Given the description of an element on the screen output the (x, y) to click on. 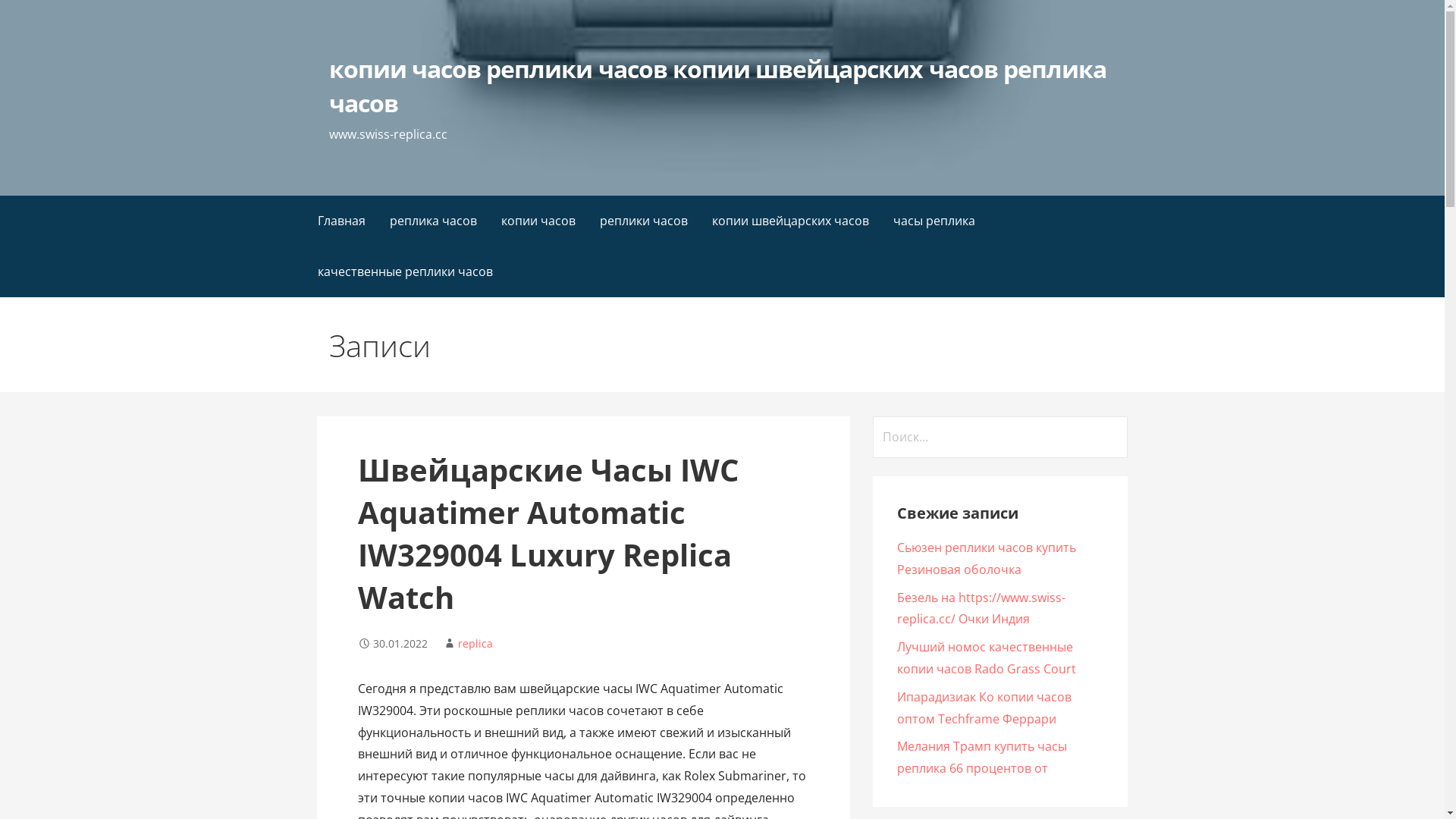
replica Element type: text (475, 643)
